Given the description of an element on the screen output the (x, y) to click on. 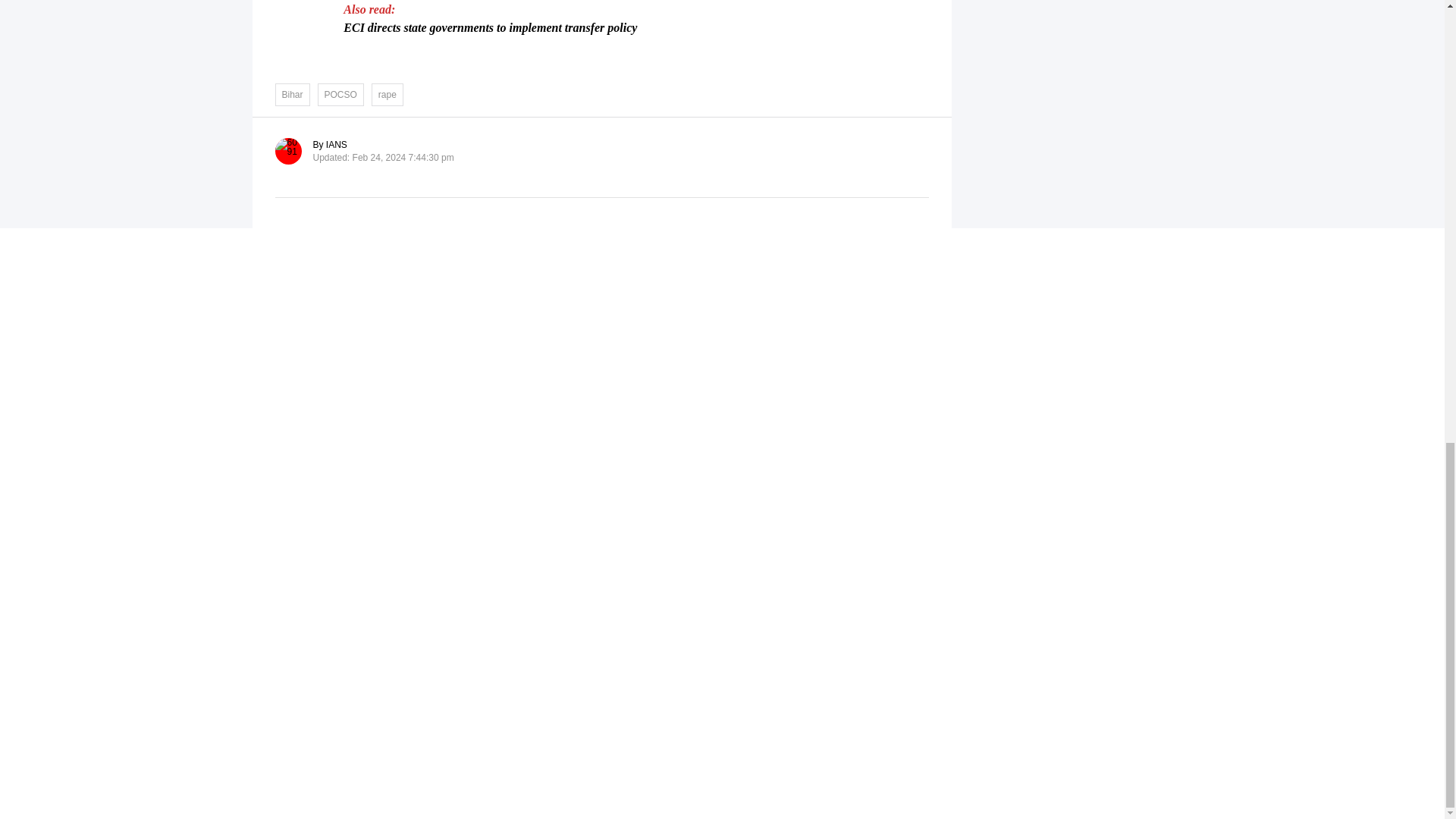
Eastern Mirror (721, 327)
